Given the description of an element on the screen output the (x, y) to click on. 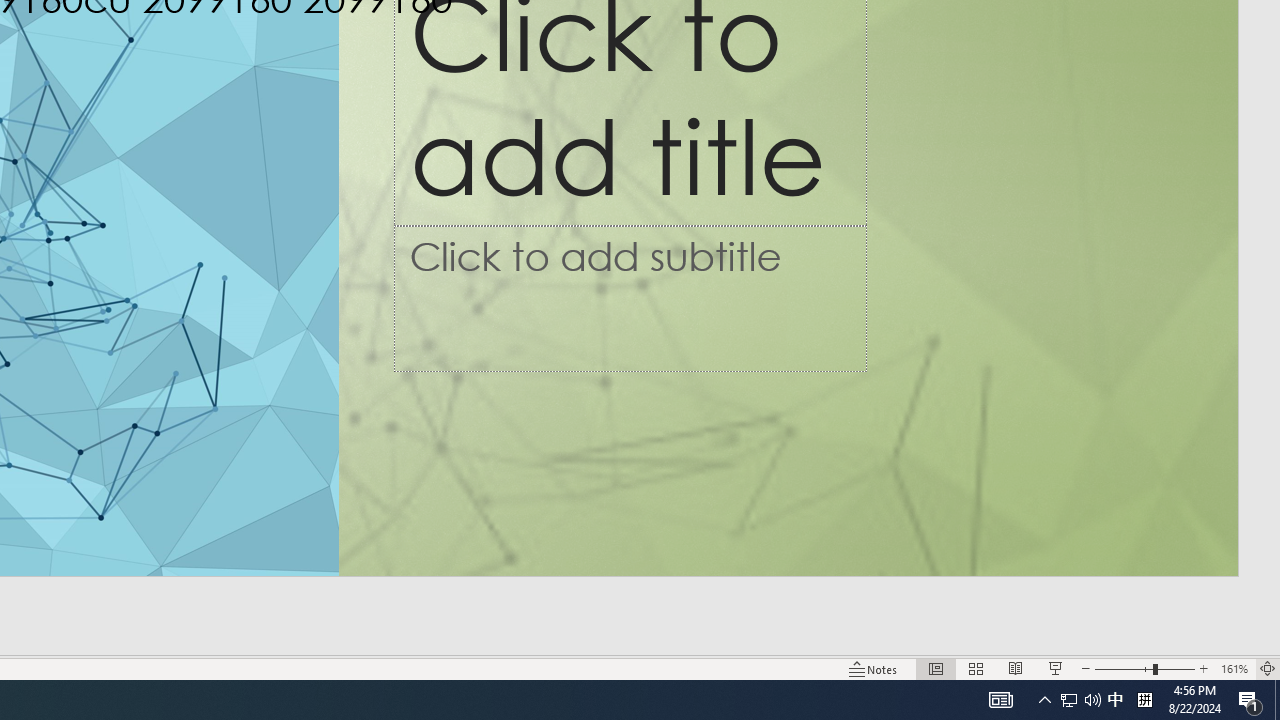
Zoom 161% (1234, 668)
